Given the description of an element on the screen output the (x, y) to click on. 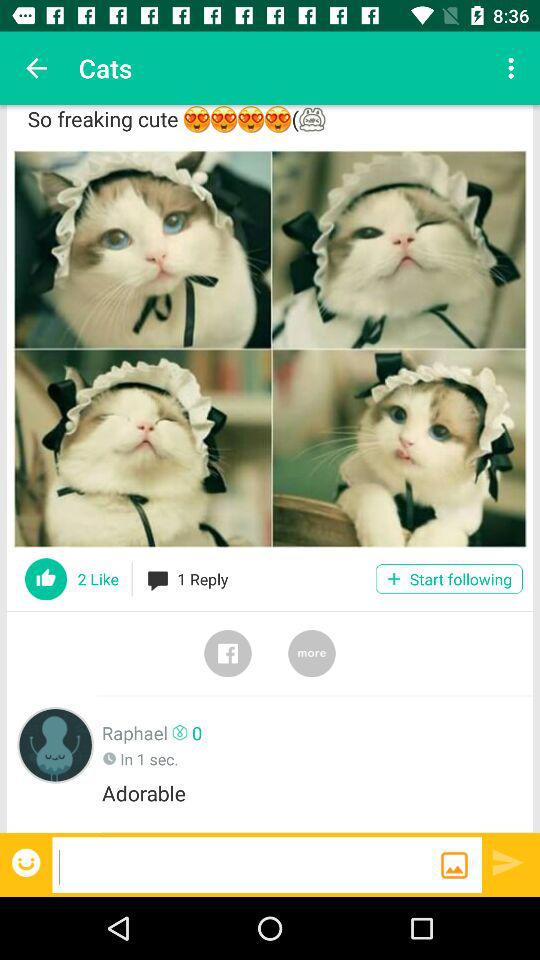
turn off item to the left of cats item (36, 68)
